Given the description of an element on the screen output the (x, y) to click on. 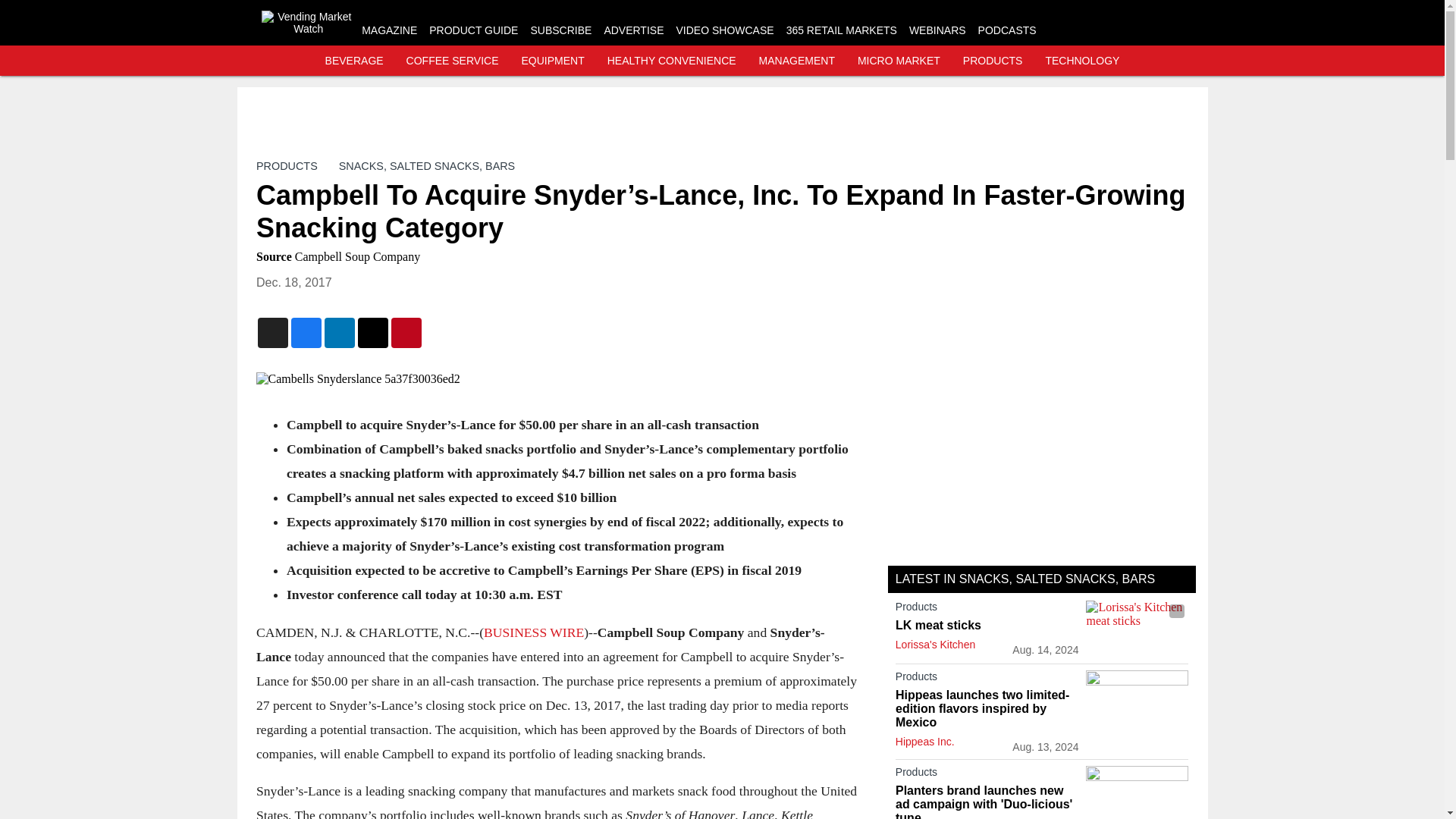
SUBSCRIBE (560, 30)
MICRO MARKET (898, 60)
BEVERAGE (354, 60)
EQUIPMENT (553, 60)
365 RETAIL MARKETS (841, 30)
Lorissa's Kitchen meat sticks (1137, 628)
PRODUCTS (992, 60)
VIDEO SHOWCASE (724, 30)
Products (986, 609)
ADVERTISE (633, 30)
